Given the description of an element on the screen output the (x, y) to click on. 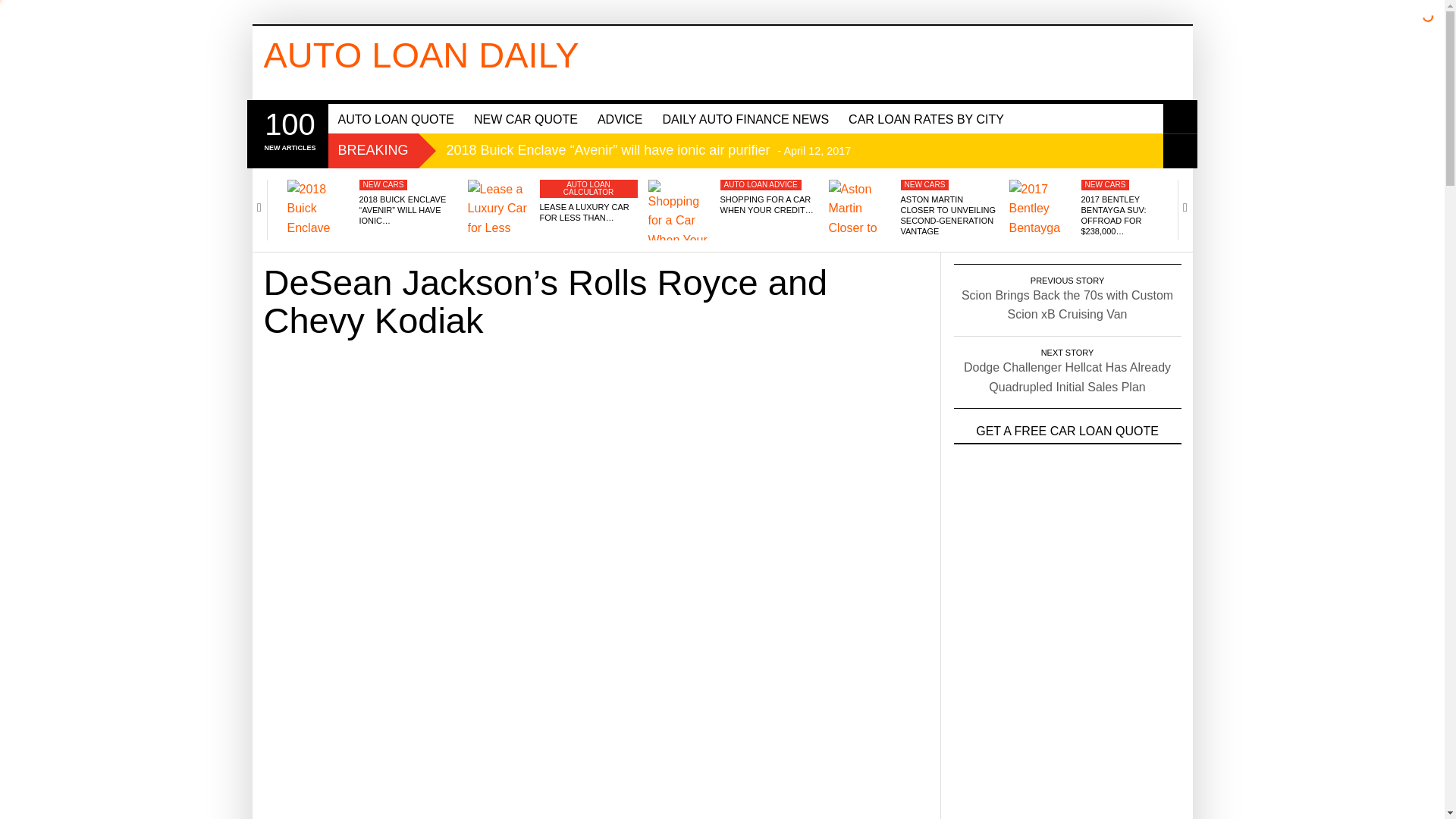
Auto Loan Daily (421, 54)
Search (1179, 116)
AUTO LOAN DAILY (421, 54)
NEW CAR QUOTE (526, 118)
ADVICE (620, 118)
Random (1179, 151)
AUTO LOAN QUOTE (395, 118)
